Given the description of an element on the screen output the (x, y) to click on. 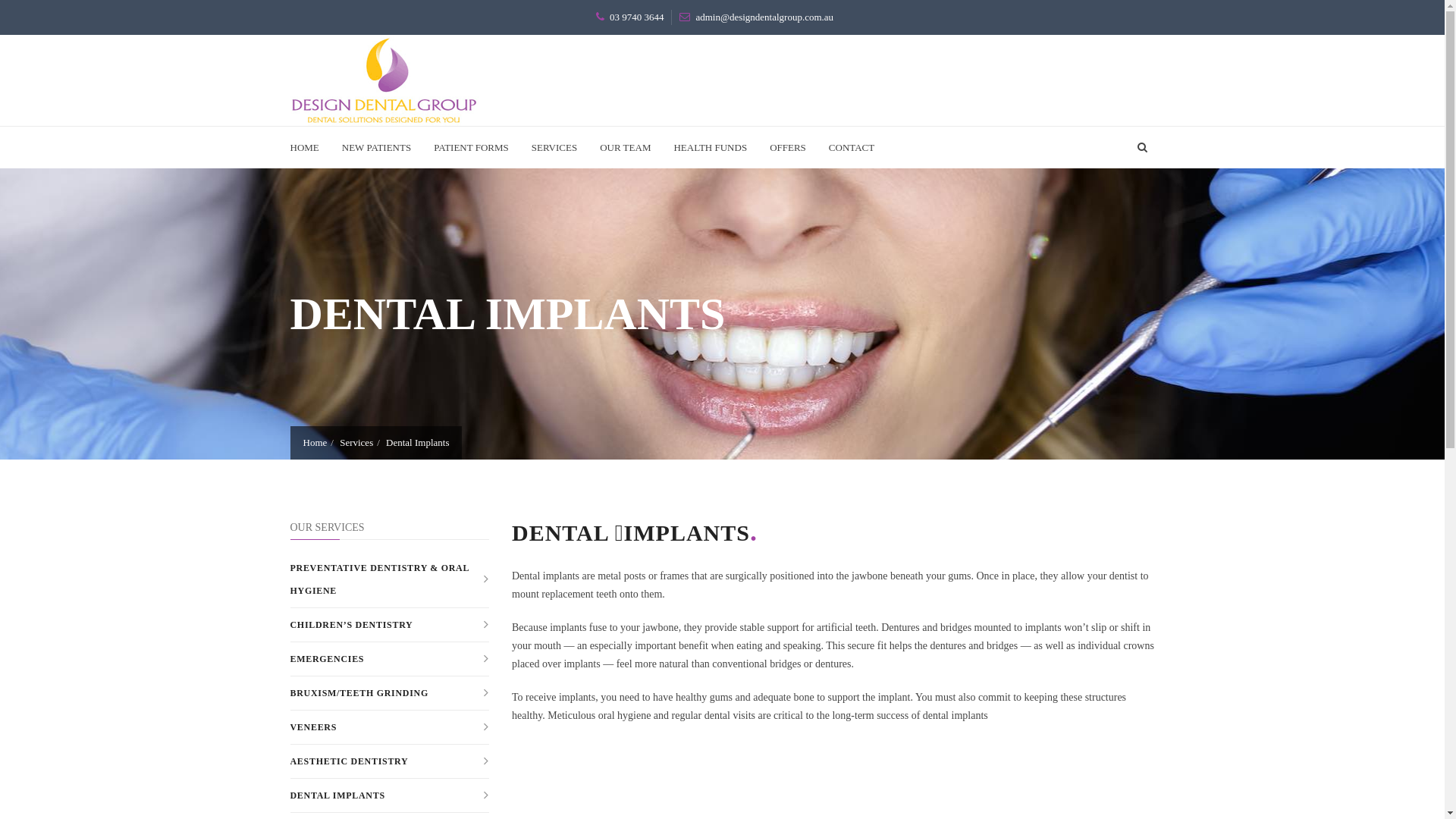
BRUXISM/TEETH GRINDING Element type: text (389, 692)
CONTACT Element type: text (851, 147)
EMERGENCIES Element type: text (389, 658)
VENEERS Element type: text (389, 726)
OUR TEAM Element type: text (625, 147)
HEALTH FUNDS Element type: text (710, 147)
admin@designdentalgroup.com.au Element type: text (764, 16)
PATIENT FORMS Element type: text (471, 147)
DENTAL IMPLANTS Element type: text (389, 795)
03 9740 3644 Element type: text (636, 16)
Design Dental Group Element type: hover (383, 78)
HOME Element type: text (309, 147)
OFFERS Element type: text (787, 147)
Home Element type: text (315, 442)
NEW PATIENTS Element type: text (376, 147)
AESTHETIC DENTISTRY Element type: text (389, 761)
SERVICES Element type: text (554, 147)
Services Element type: text (356, 442)
PREVENTATIVE DENTISTRY & ORAL HYGIENE Element type: text (389, 579)
